Given the description of an element on the screen output the (x, y) to click on. 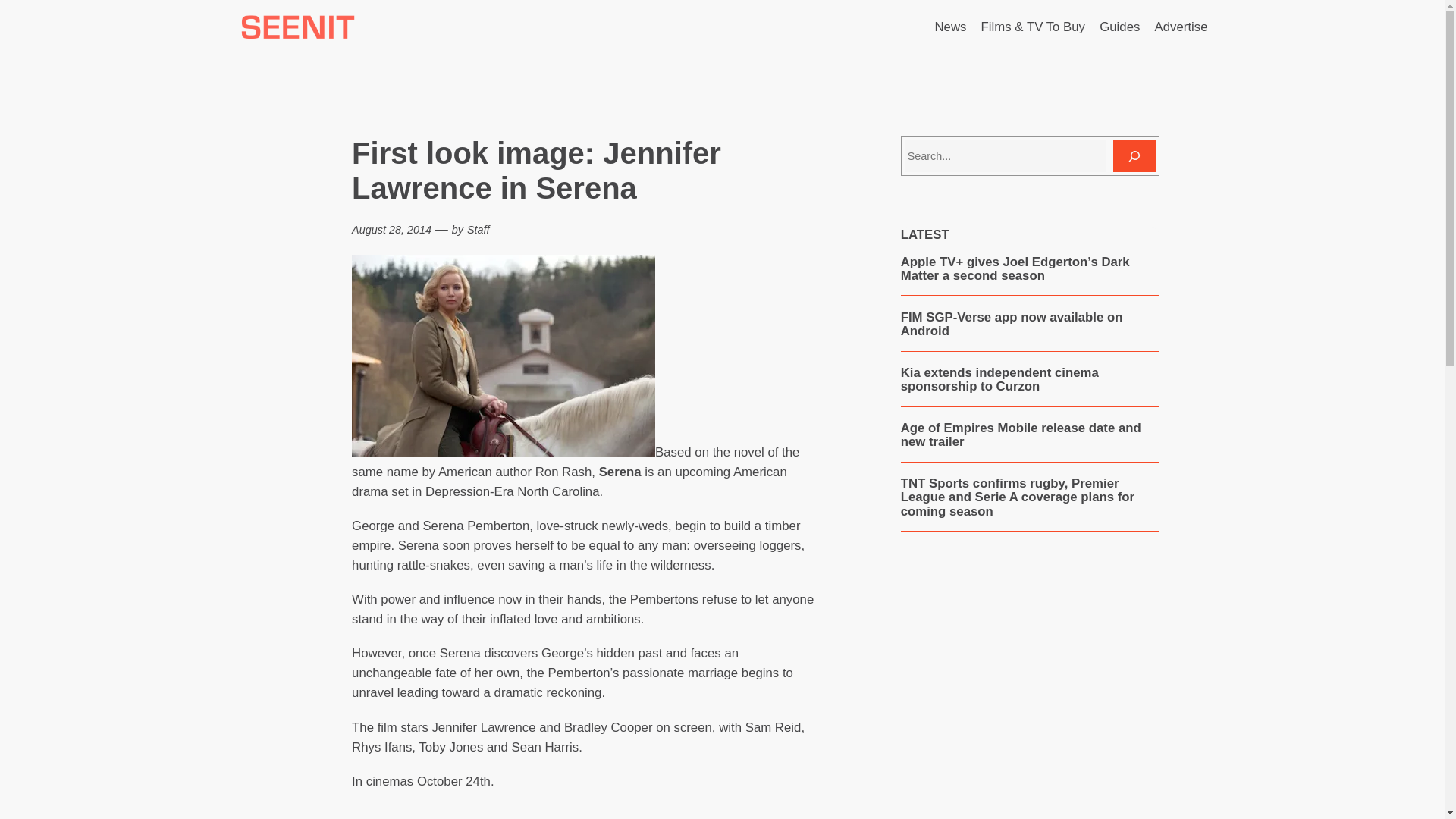
Age of Empires Mobile release date and new trailer (1029, 435)
Advertisement (1028, 692)
Advertise (1181, 26)
News (950, 26)
FIM SGP-Verse app now available on Android (1029, 325)
Guides (1119, 26)
Kia extends independent cinema sponsorship to Curzon (1029, 379)
Staff (478, 229)
Advertisement (587, 812)
